Given the description of an element on the screen output the (x, y) to click on. 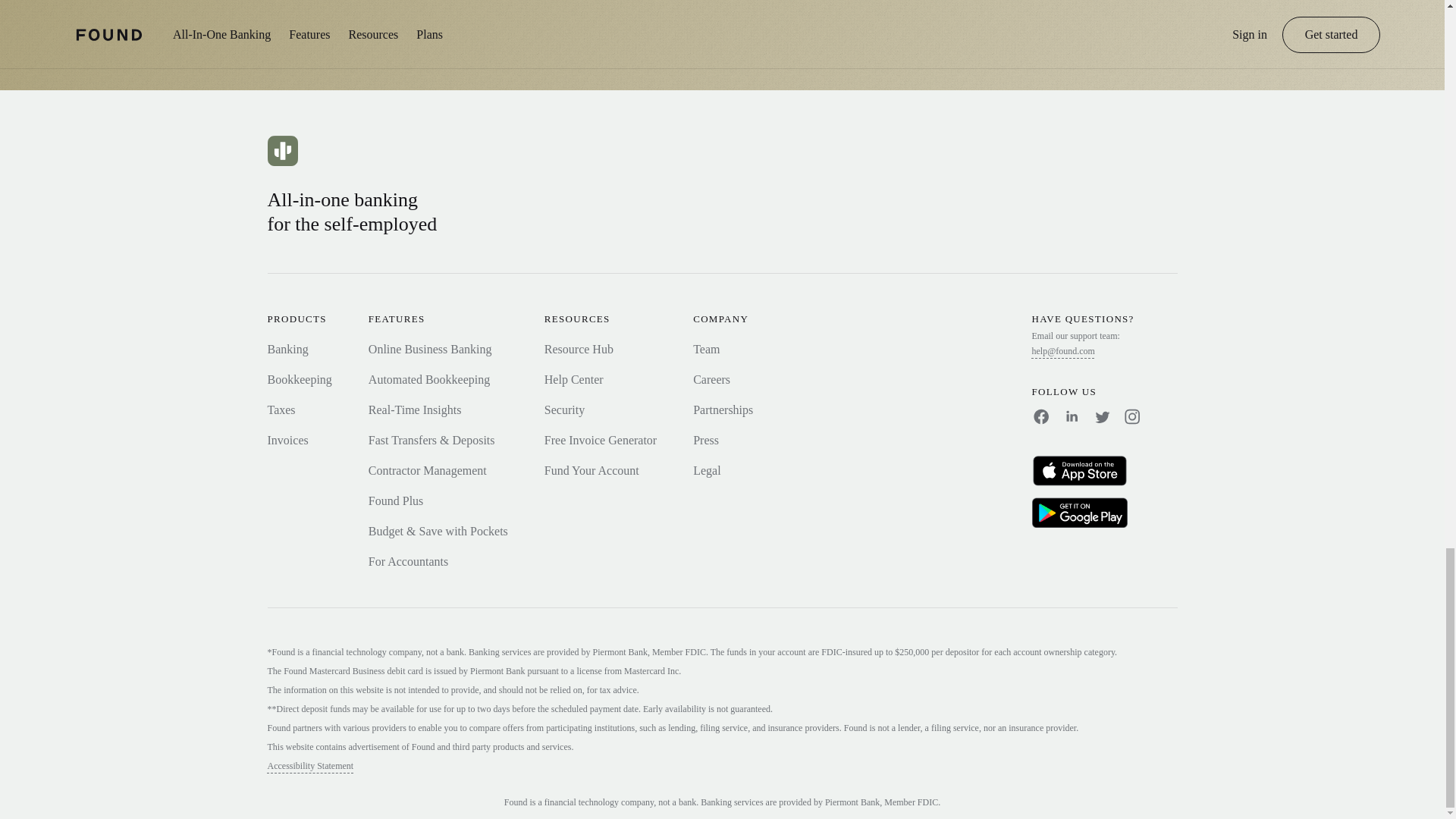
Banking (286, 349)
Taxes (280, 409)
Resource Hub (578, 349)
Bookkeeping (298, 379)
Found Plus (395, 500)
Help Center (574, 379)
Press (706, 440)
Security (564, 409)
Careers (711, 379)
Contractor Management (427, 470)
